Given the description of an element on the screen output the (x, y) to click on. 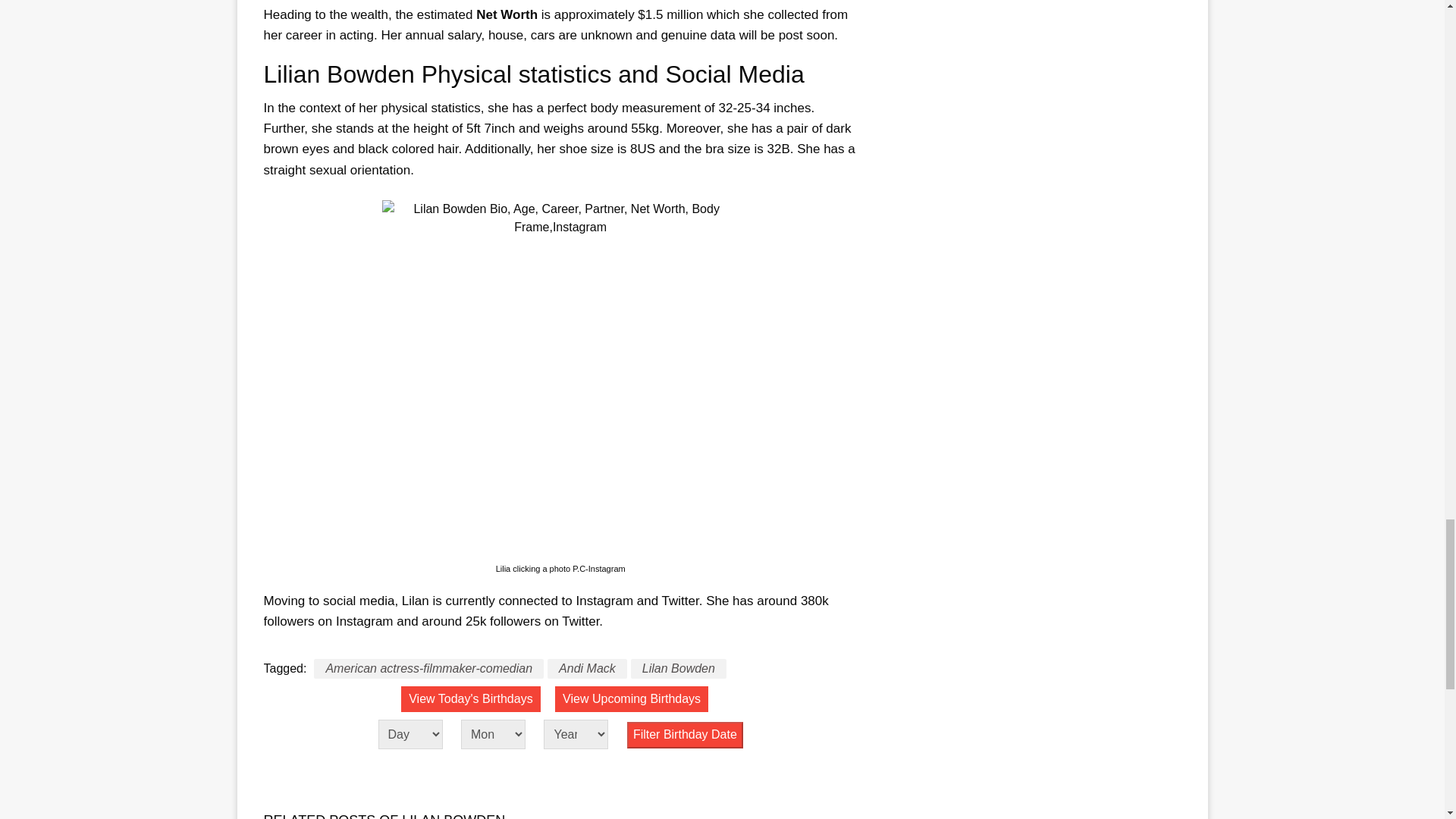
Filter Birthday Date (684, 734)
